Given the description of an element on the screen output the (x, y) to click on. 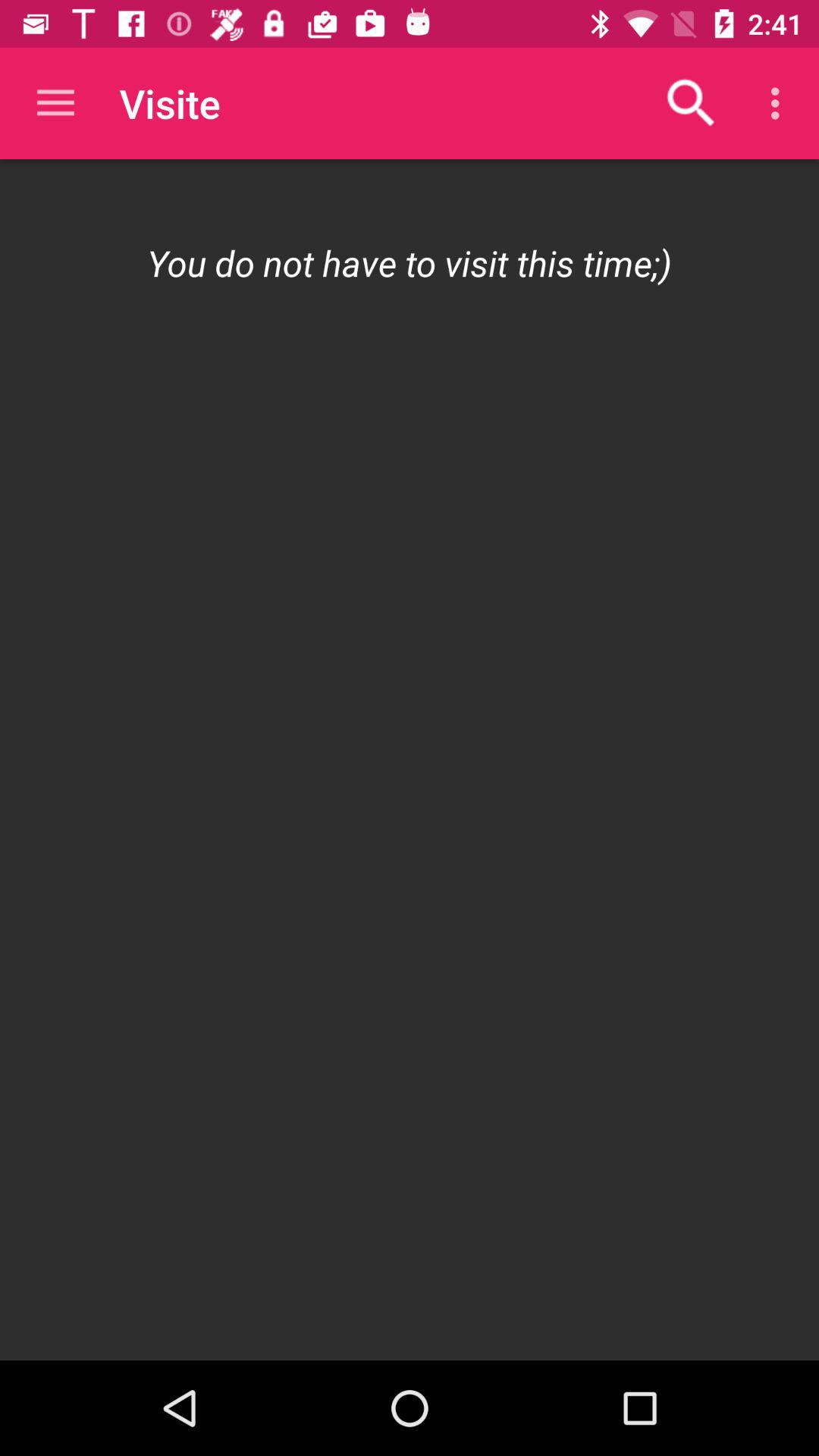
choose the item above the you do not item (691, 103)
